Given the description of an element on the screen output the (x, y) to click on. 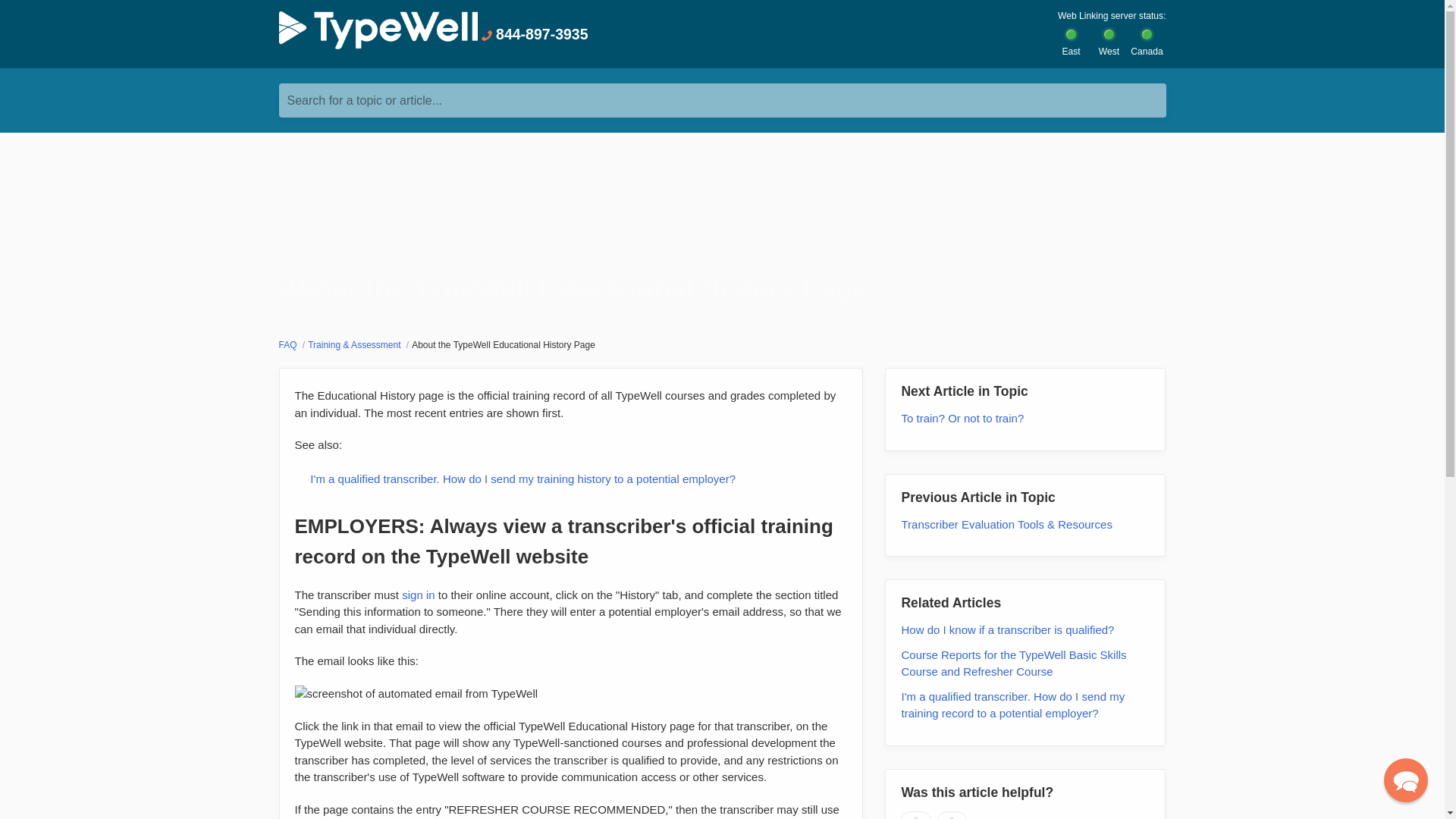
sign in (417, 594)
844-897-3935 (534, 34)
How do I know if a transcriber is qualified? (1007, 629)
FAQ (289, 344)
To train? Or not to train? (962, 418)
